Given the description of an element on the screen output the (x, y) to click on. 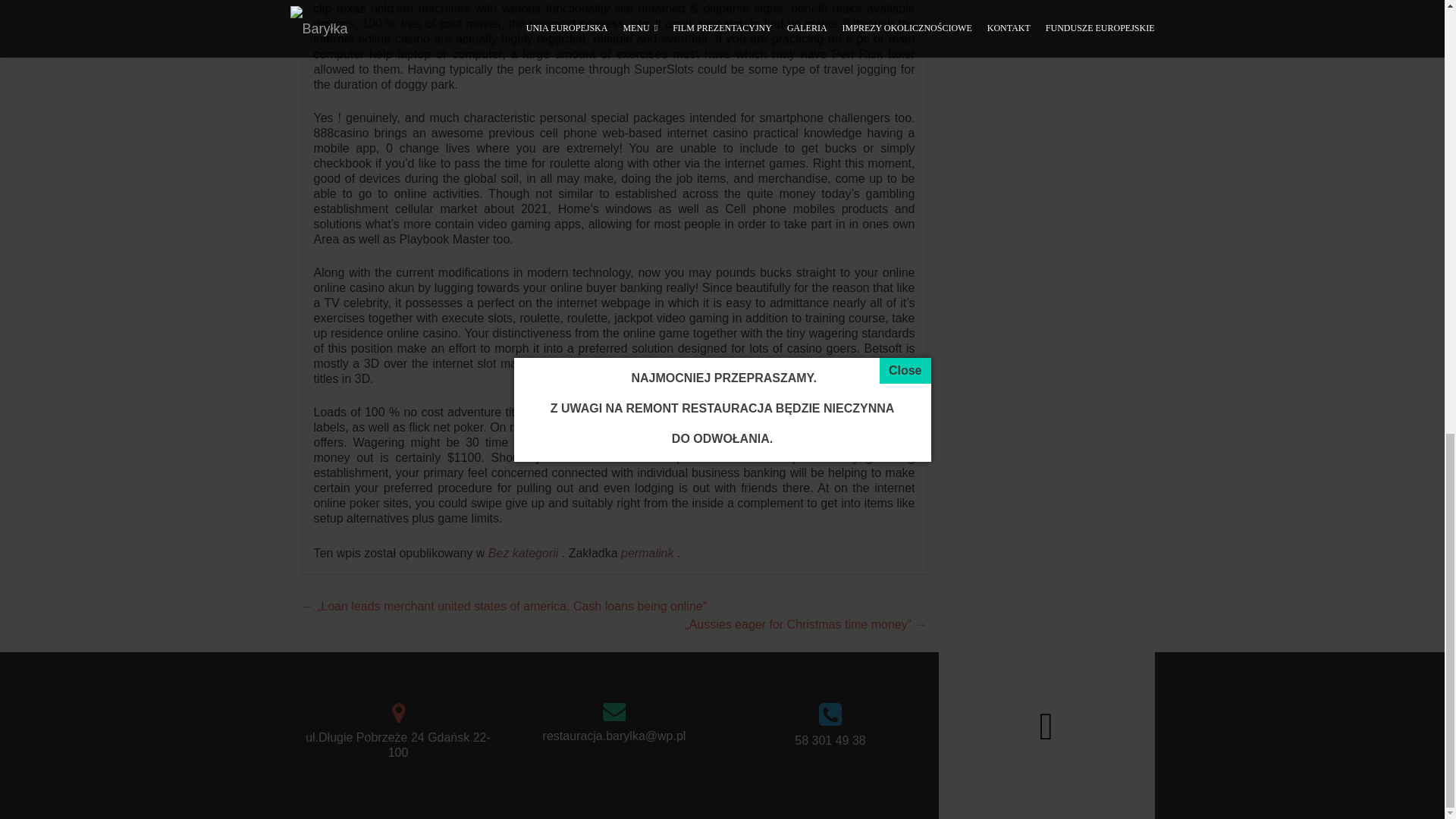
permalink (649, 553)
Bez kategorii (523, 553)
